Given the description of an element on the screen output the (x, y) to click on. 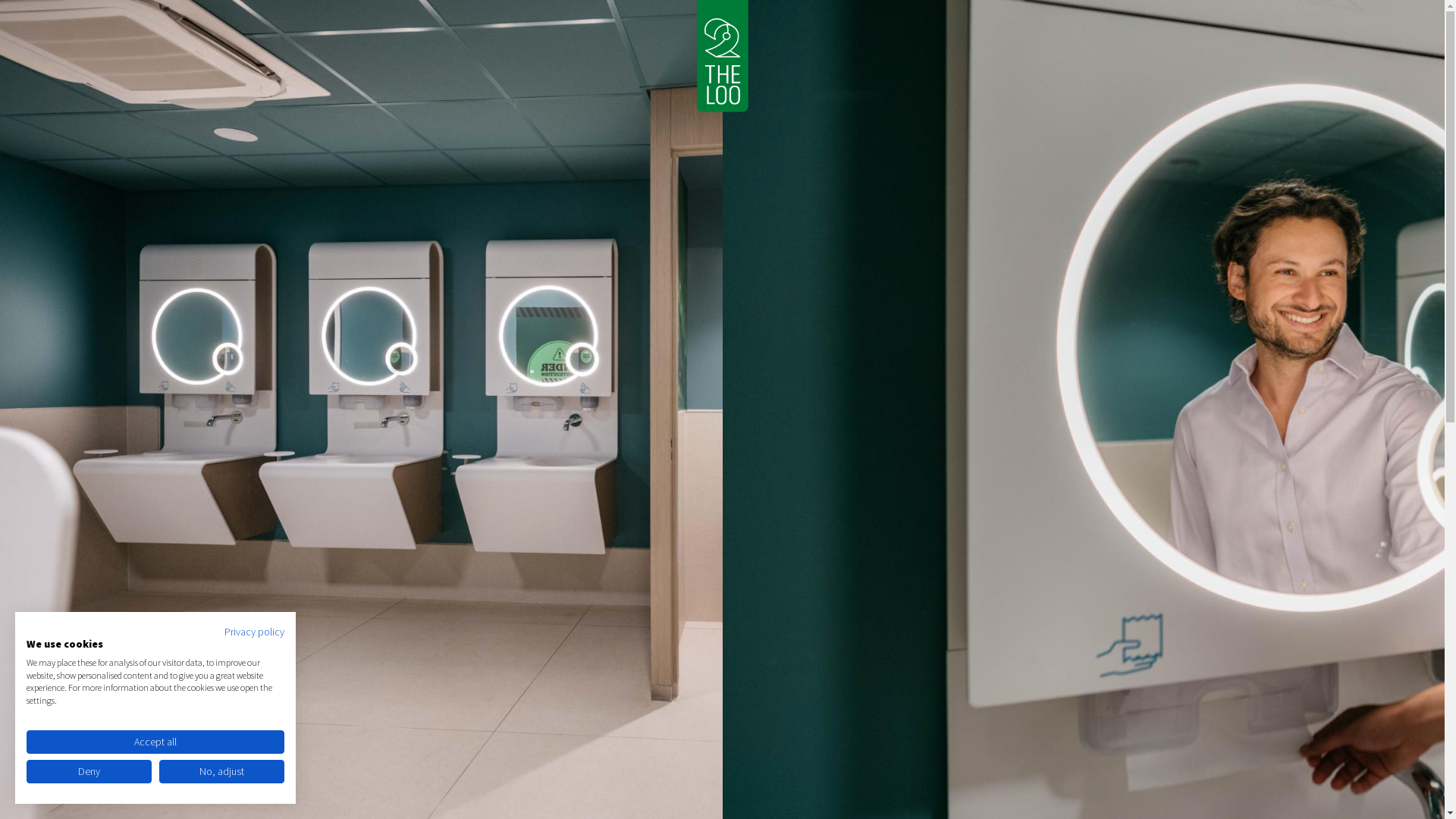
Privacy policy Element type: text (254, 631)
No, adjust Element type: text (221, 771)
Deny Element type: text (88, 771)
Accept all Element type: text (155, 741)
